Given the description of an element on the screen output the (x, y) to click on. 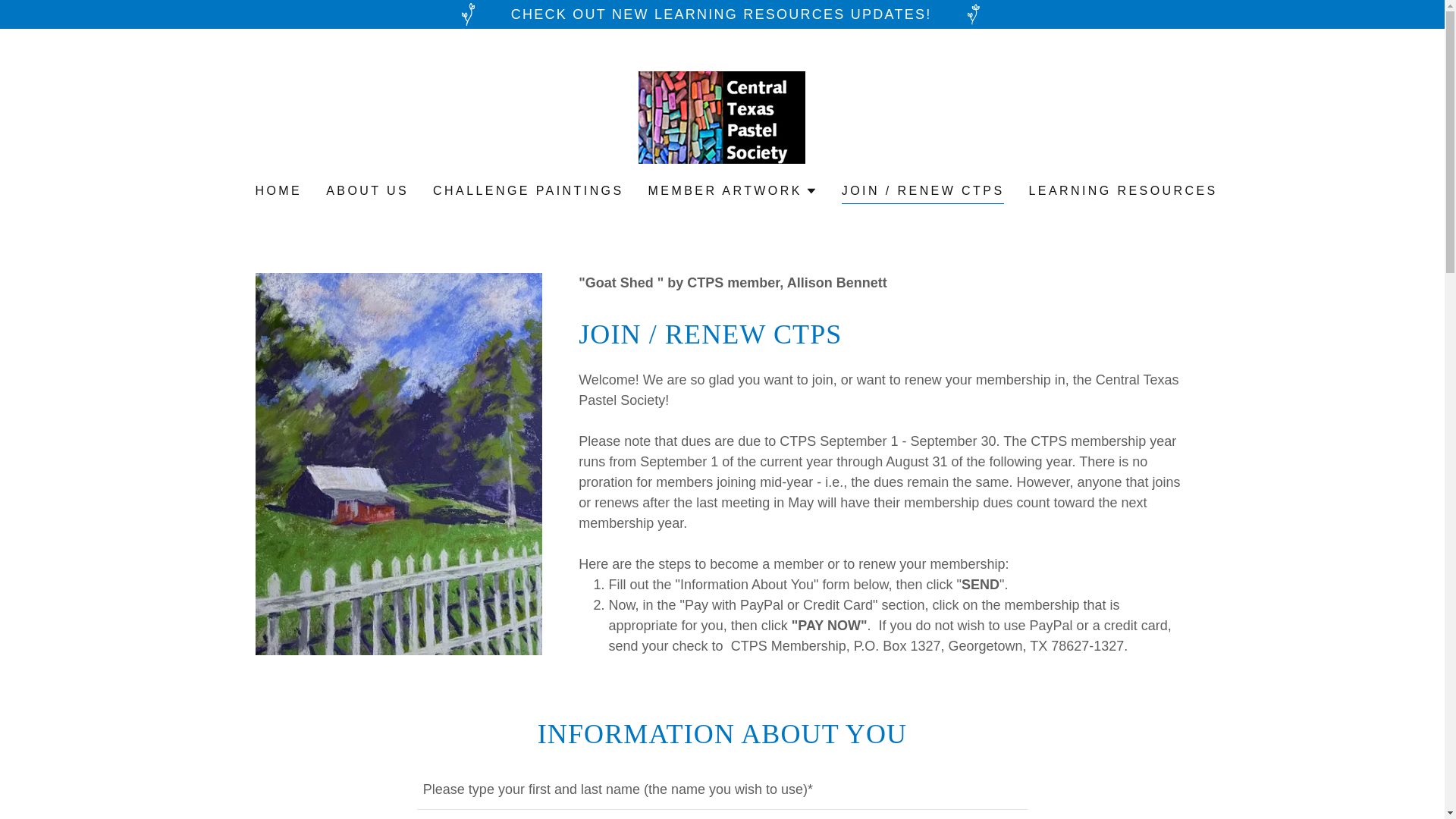
ABOUT US (367, 190)
MEMBER ARTWORK (731, 190)
LEARNING RESOURCES (1122, 190)
HOME (277, 190)
Central Texas Pastel Society (722, 116)
CHALLENGE PAINTINGS (527, 190)
